Given the description of an element on the screen output the (x, y) to click on. 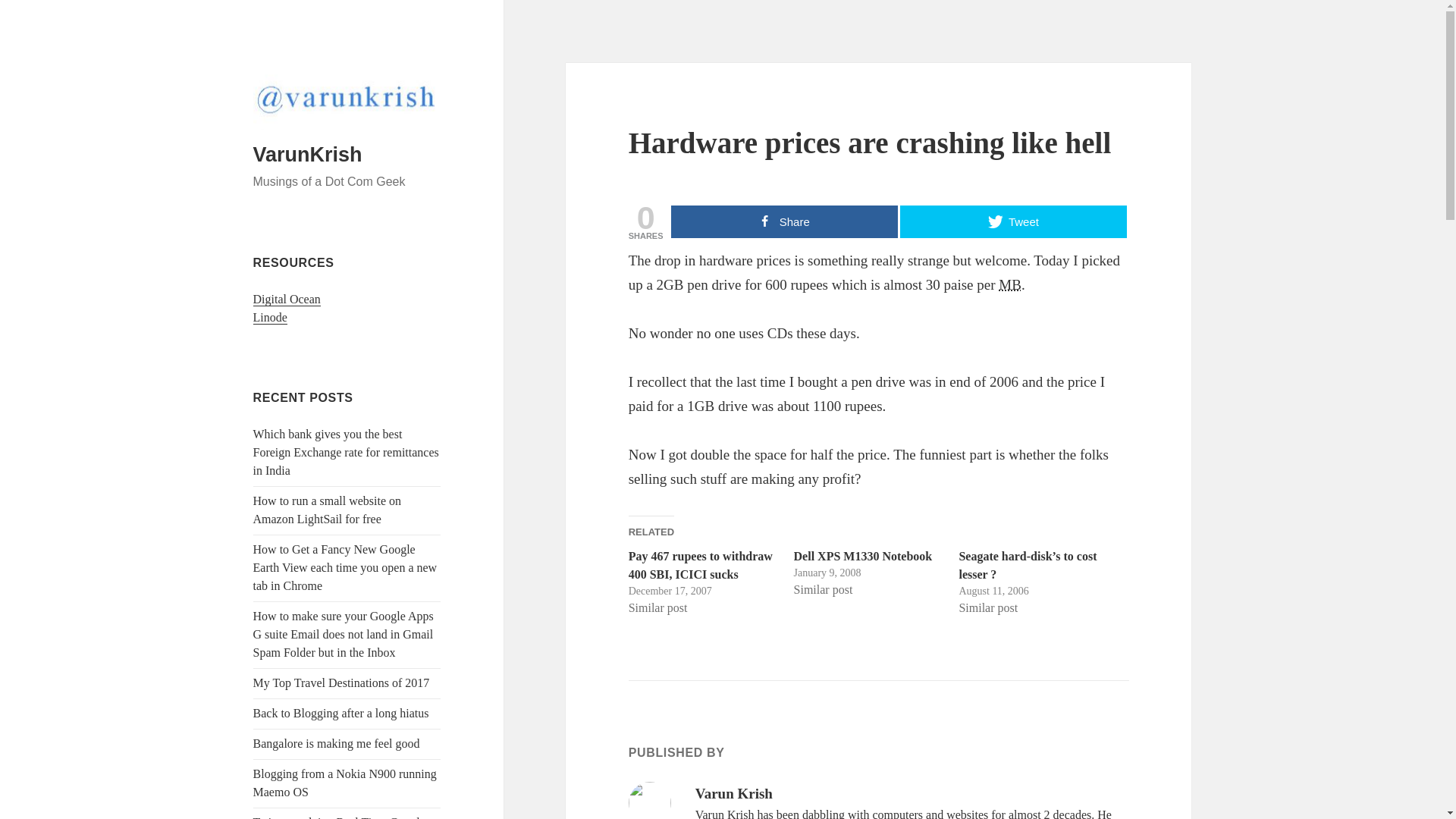
Dell XPS M1330 Notebook (863, 555)
Digital Ocean (286, 299)
Bangalore is making me feel good (336, 743)
Back to Blogging after a long hiatus (341, 712)
Megabyte (1010, 284)
VarunKrish (307, 154)
My Top Travel Destinations of 2017 (341, 682)
Linode (269, 317)
